Given the description of an element on the screen output the (x, y) to click on. 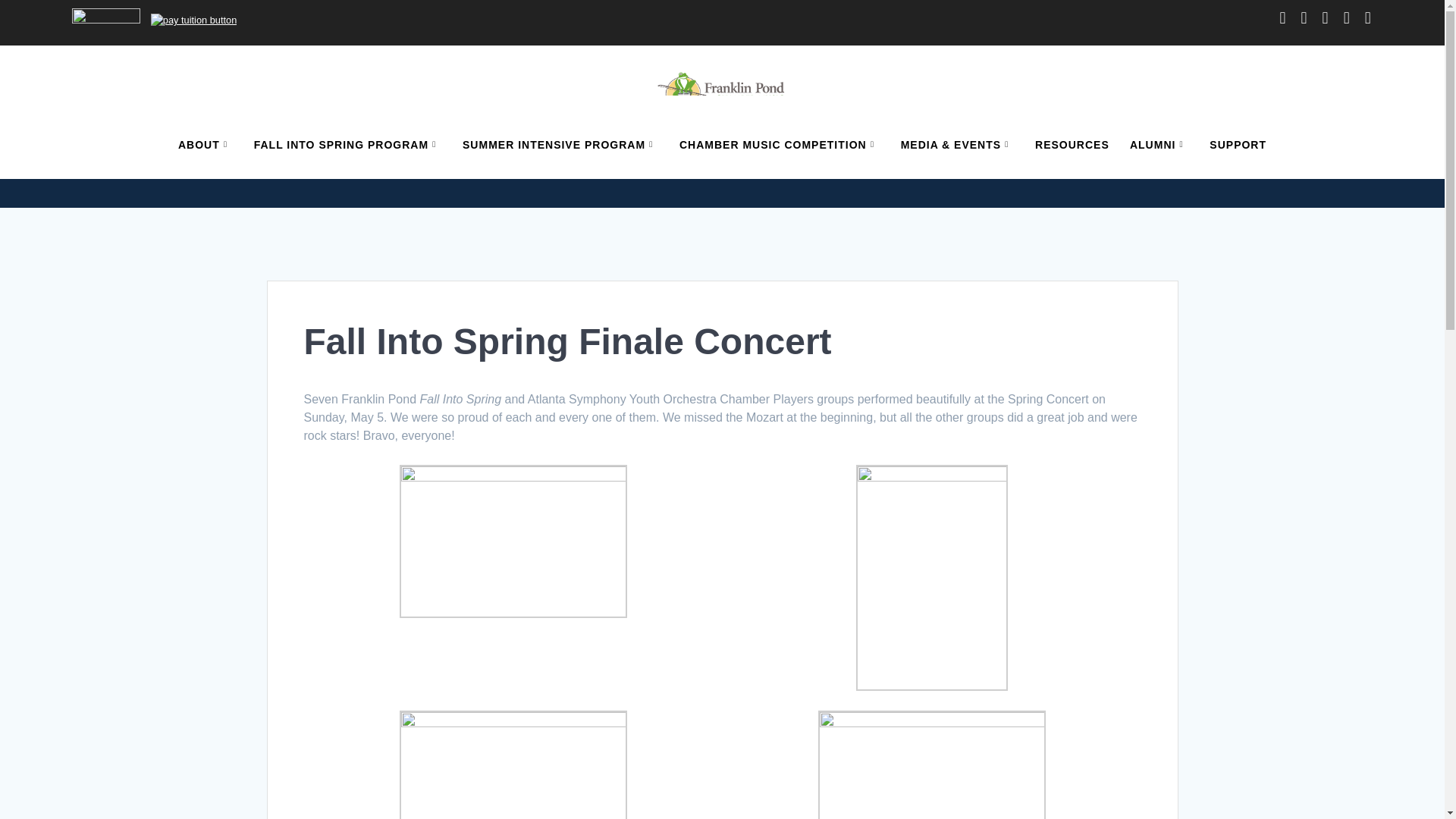
ABOUT (204, 145)
CHAMBER MUSIC COMPETITION (779, 145)
SUMMER INTENSIVE PROGRAM (561, 145)
FALL INTO SPRING PROGRAM (347, 145)
